Given the description of an element on the screen output the (x, y) to click on. 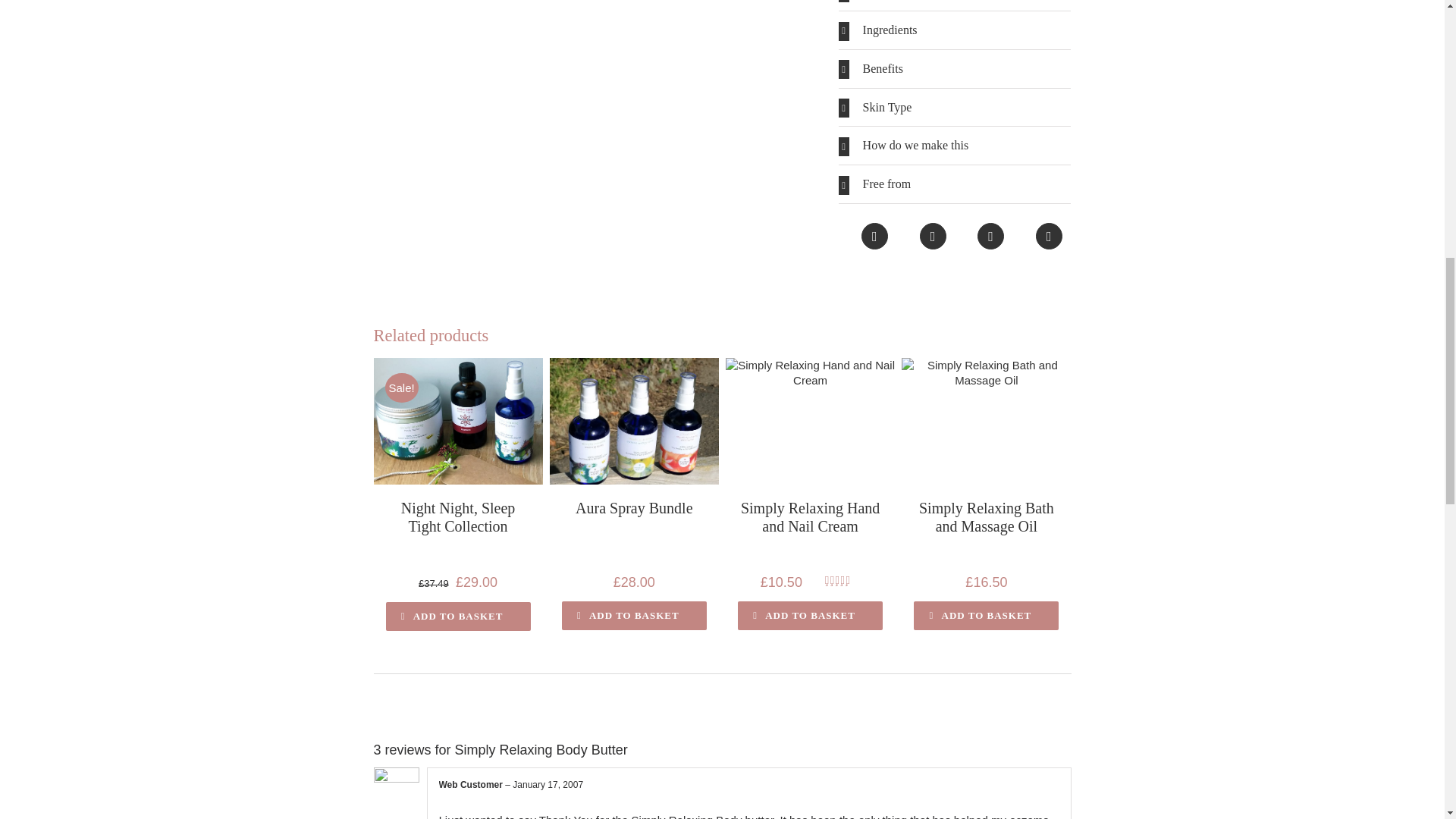
Ingredients (954, 30)
Directions for use (954, 5)
Benefits (954, 68)
Mother Earth Simply Relaxing Body Butter (587, 116)
